Given the description of an element on the screen output the (x, y) to click on. 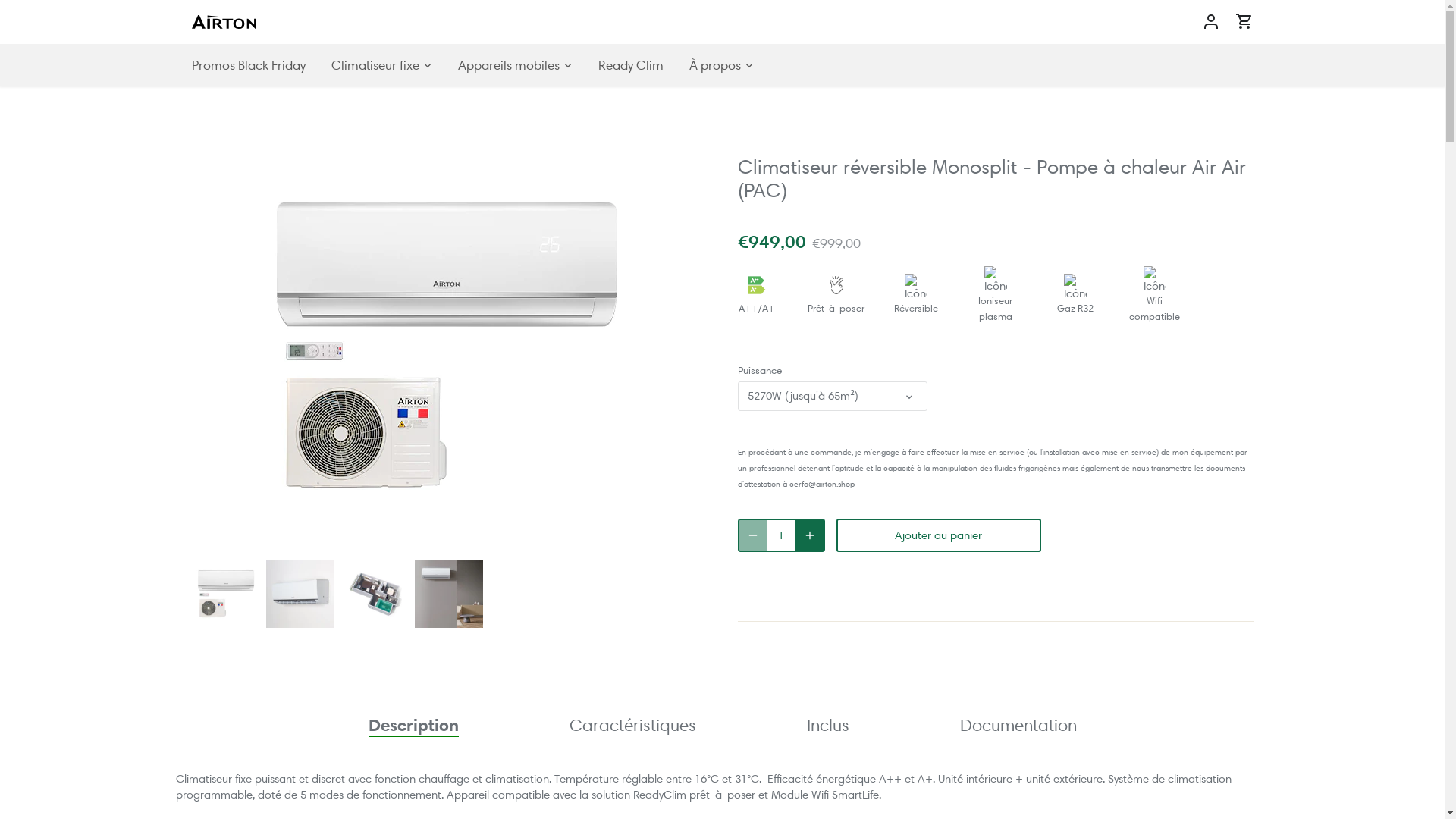
Customer reviews powered by Trustpilot Element type: hover (994, 217)
Promos Black Friday Element type: text (254, 64)
Ajouter au panier Element type: text (937, 535)
Inclus Element type: text (827, 724)
Appareils mobiles Element type: text (507, 64)
Description Element type: text (413, 725)
Aller au panier Element type: hover (1243, 21)
Climatiseur fixe Element type: text (375, 64)
Documentation Element type: text (1018, 724)
cerfa@airton.shop Element type: text (820, 483)
Ready Clim Element type: text (630, 64)
